Given the description of an element on the screen output the (x, y) to click on. 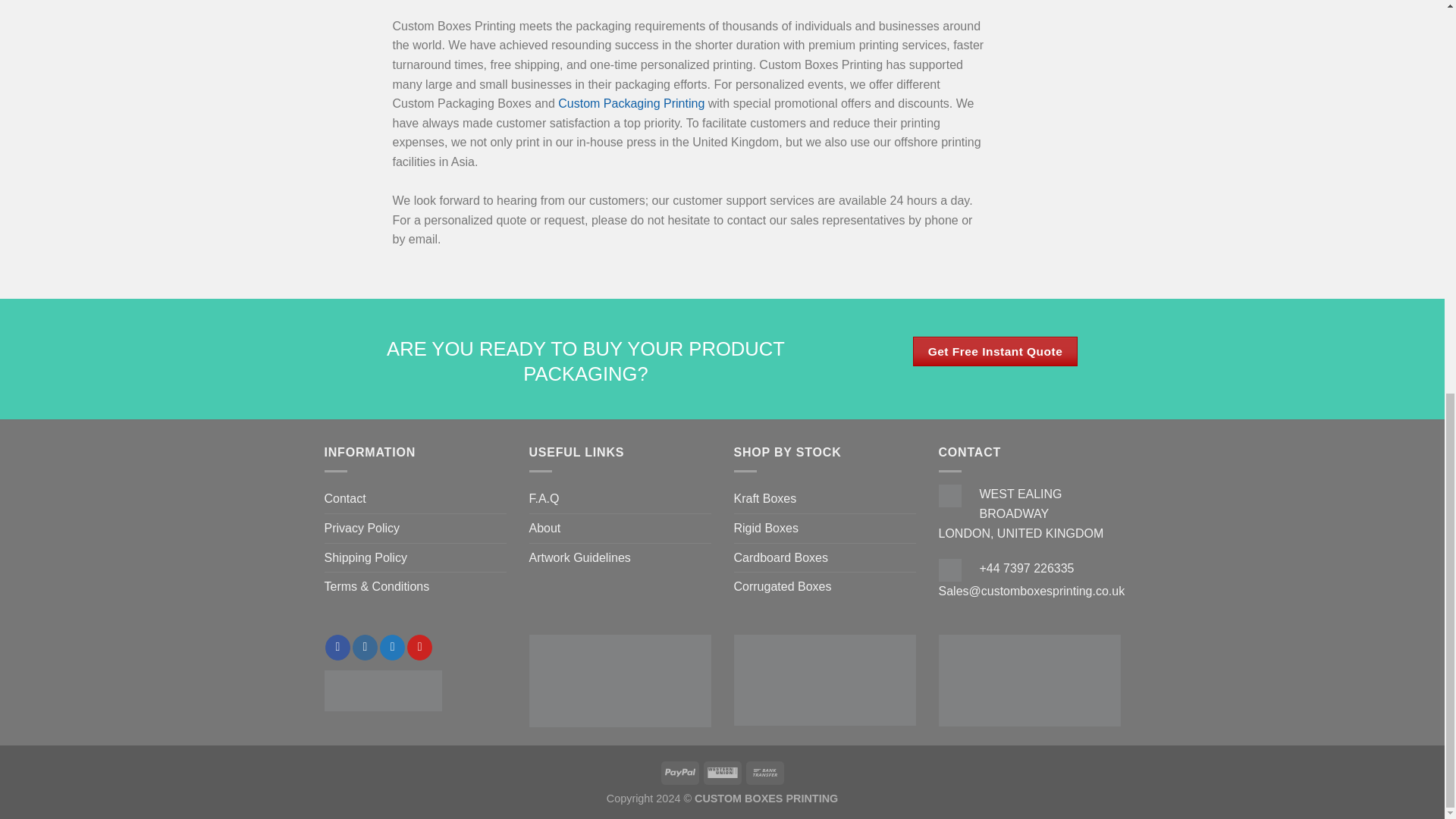
Follow on Pinterest (419, 647)
Follow on Instagram (364, 647)
Follow on Twitter (392, 647)
Follow on Facebook (337, 647)
